Given the description of an element on the screen output the (x, y) to click on. 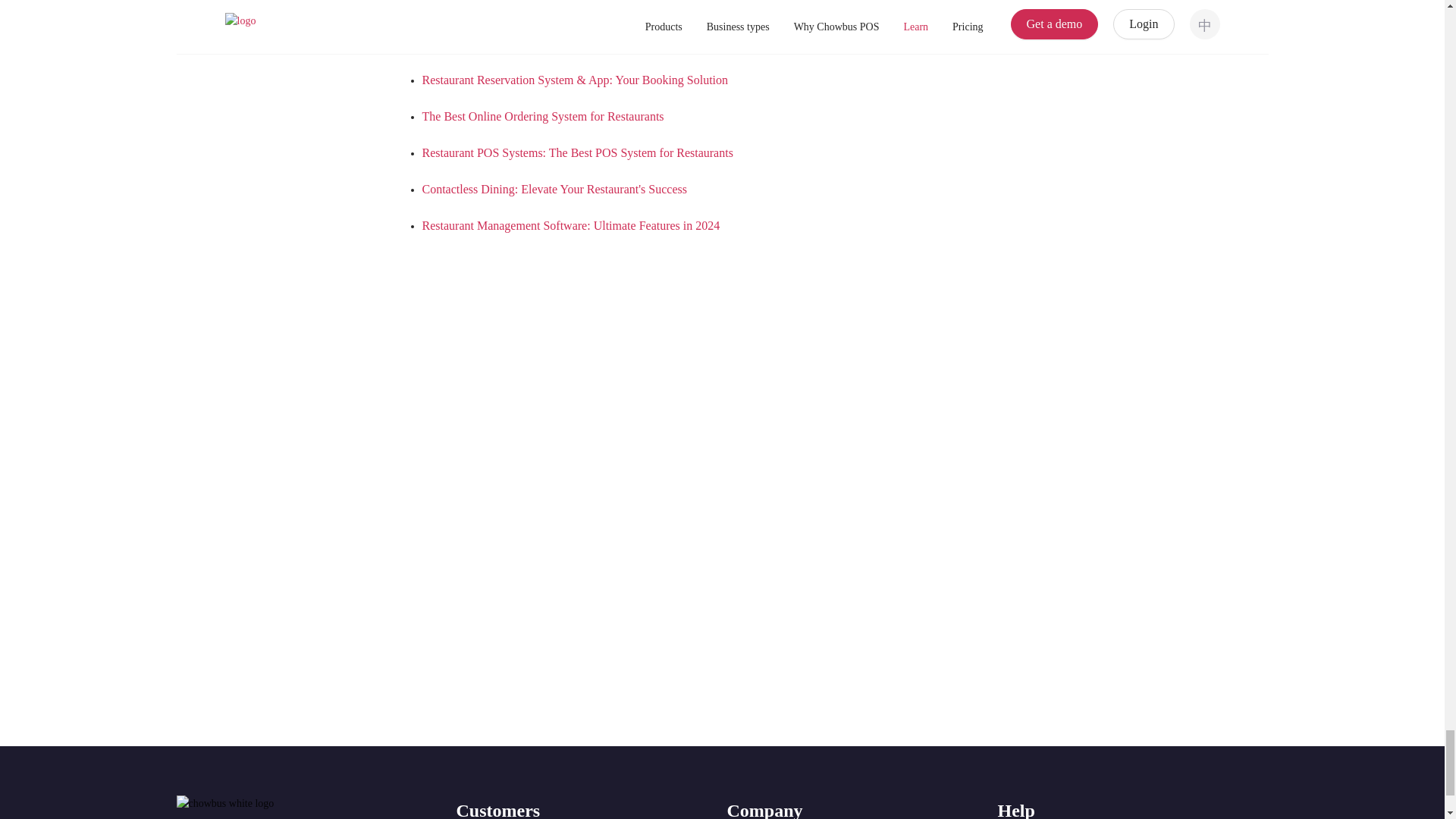
Restaurant Loyalty Programs: 15 Innovative Ideas in 2024 (564, 6)
The Best Online Ordering System for Restaurants (542, 115)
Restaurant POS Integration: Top 9 Must-Haves for Restaurants (575, 42)
